Given the description of an element on the screen output the (x, y) to click on. 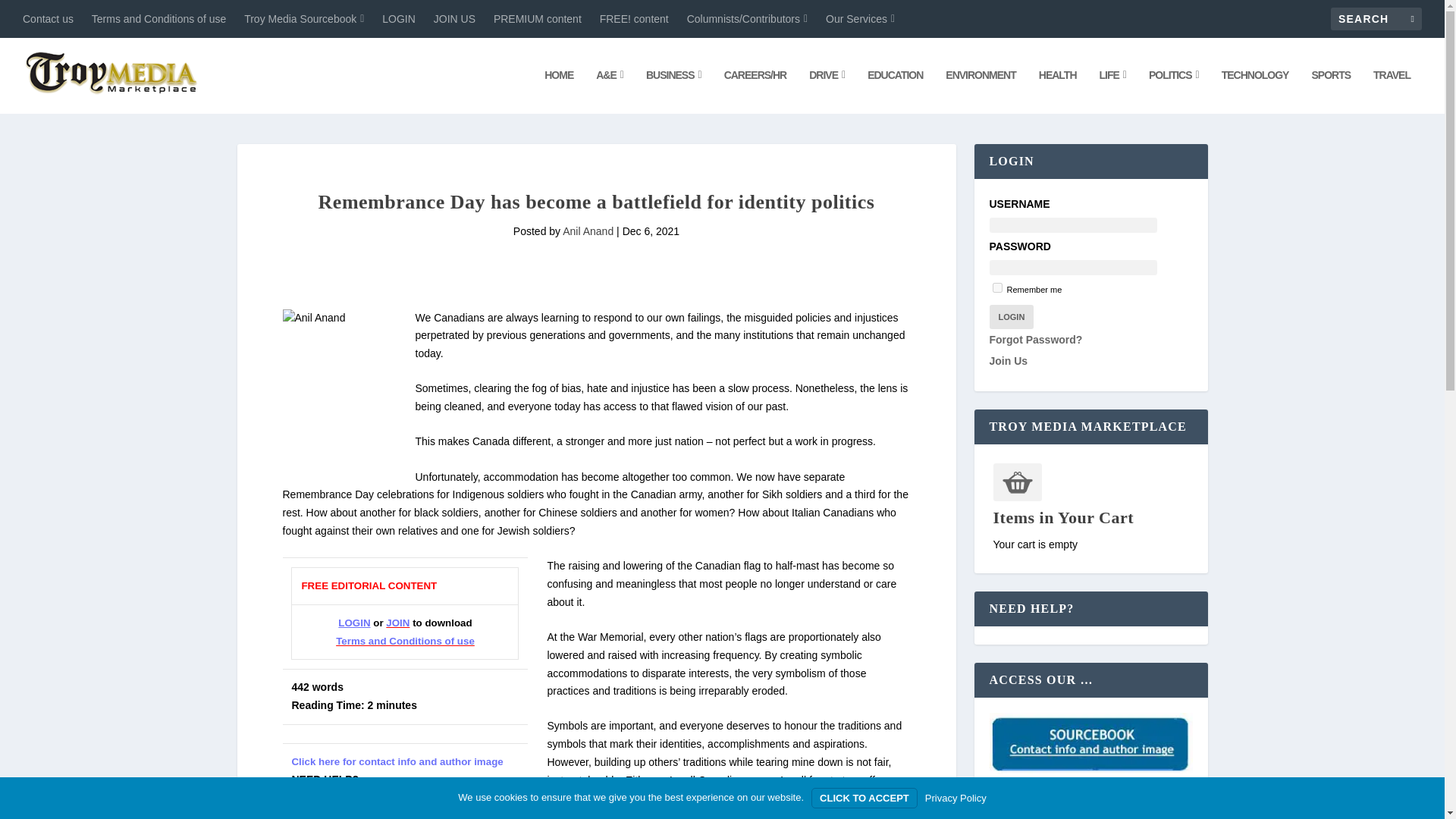
ENVIRONMENT (979, 90)
Posts by Anil Anand (587, 231)
PREMIUM content (536, 18)
Shopping Cart (1017, 482)
Login (1010, 316)
EDUCATION (895, 90)
Search for: (1376, 18)
forever (996, 287)
Contact us (48, 18)
BUSINESS (673, 90)
